Given the description of an element on the screen output the (x, y) to click on. 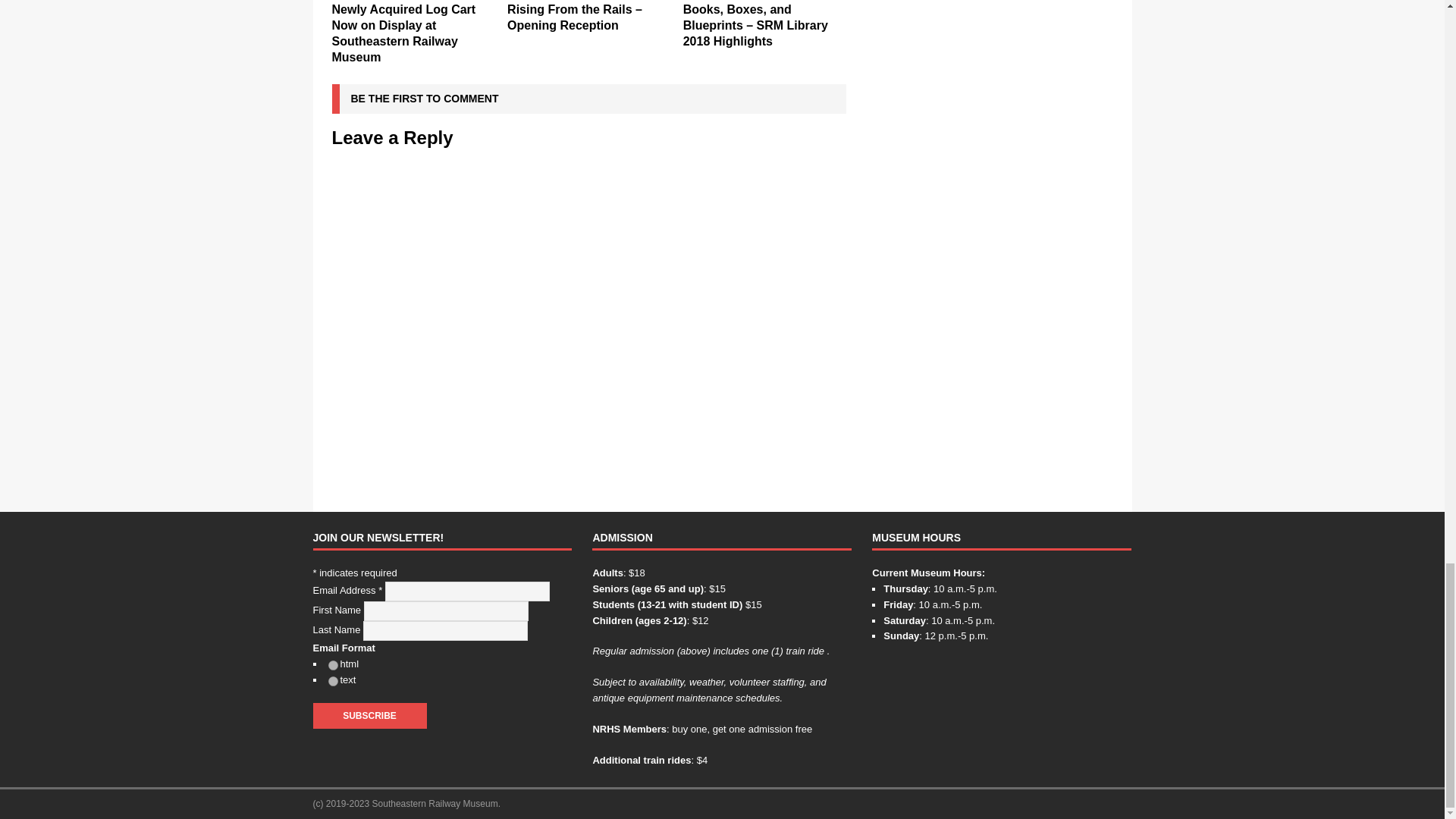
html (332, 665)
text (332, 681)
Subscribe (369, 715)
